Given the description of an element on the screen output the (x, y) to click on. 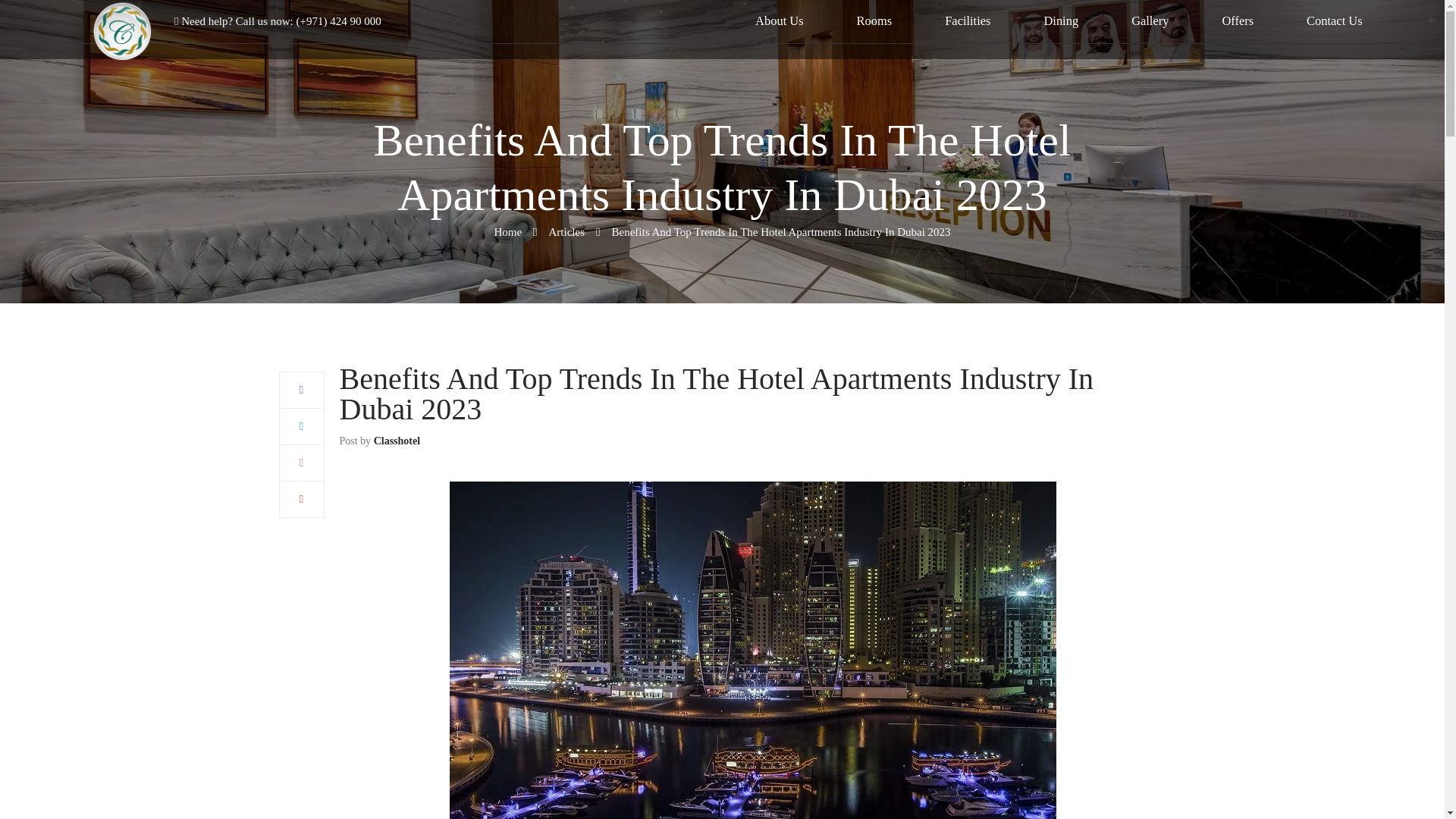
Home (507, 231)
Class Hotel Apartments -  (120, 33)
Articles (566, 231)
Offers (1237, 20)
Gallery (1150, 20)
Contact Us (1334, 20)
Dining (1060, 20)
About Us (779, 20)
Rooms (874, 20)
Classhotel (397, 440)
